Given the description of an element on the screen output the (x, y) to click on. 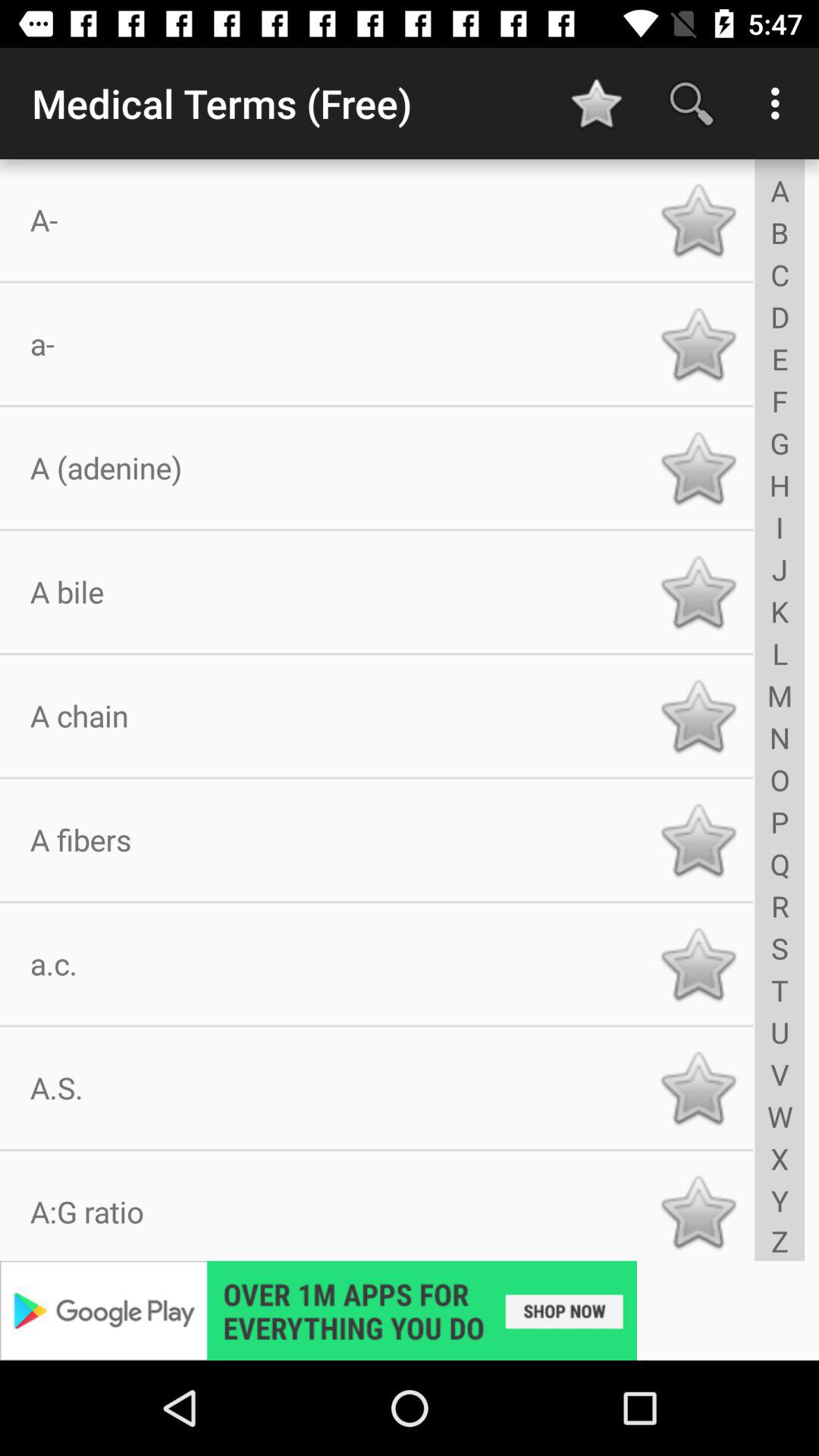
add a g ratio to favorites (697, 1211)
